Given the description of an element on the screen output the (x, y) to click on. 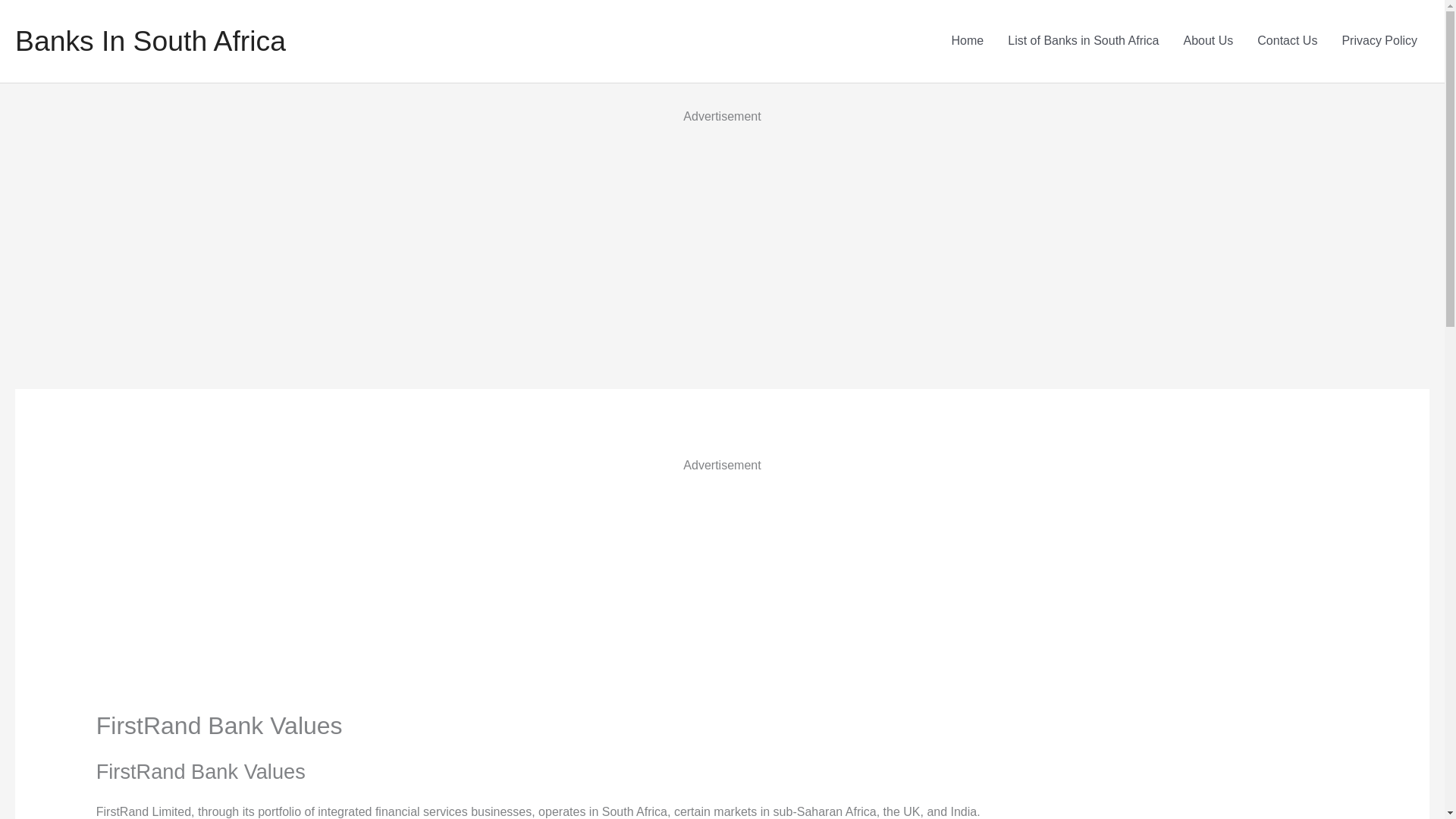
List of Banks in South Africa (1082, 40)
About Us (1207, 40)
Banks In South Africa (149, 40)
Home (967, 40)
Advertisement (338, 581)
Privacy Policy (1379, 40)
Contact Us (1286, 40)
